Given the description of an element on the screen output the (x, y) to click on. 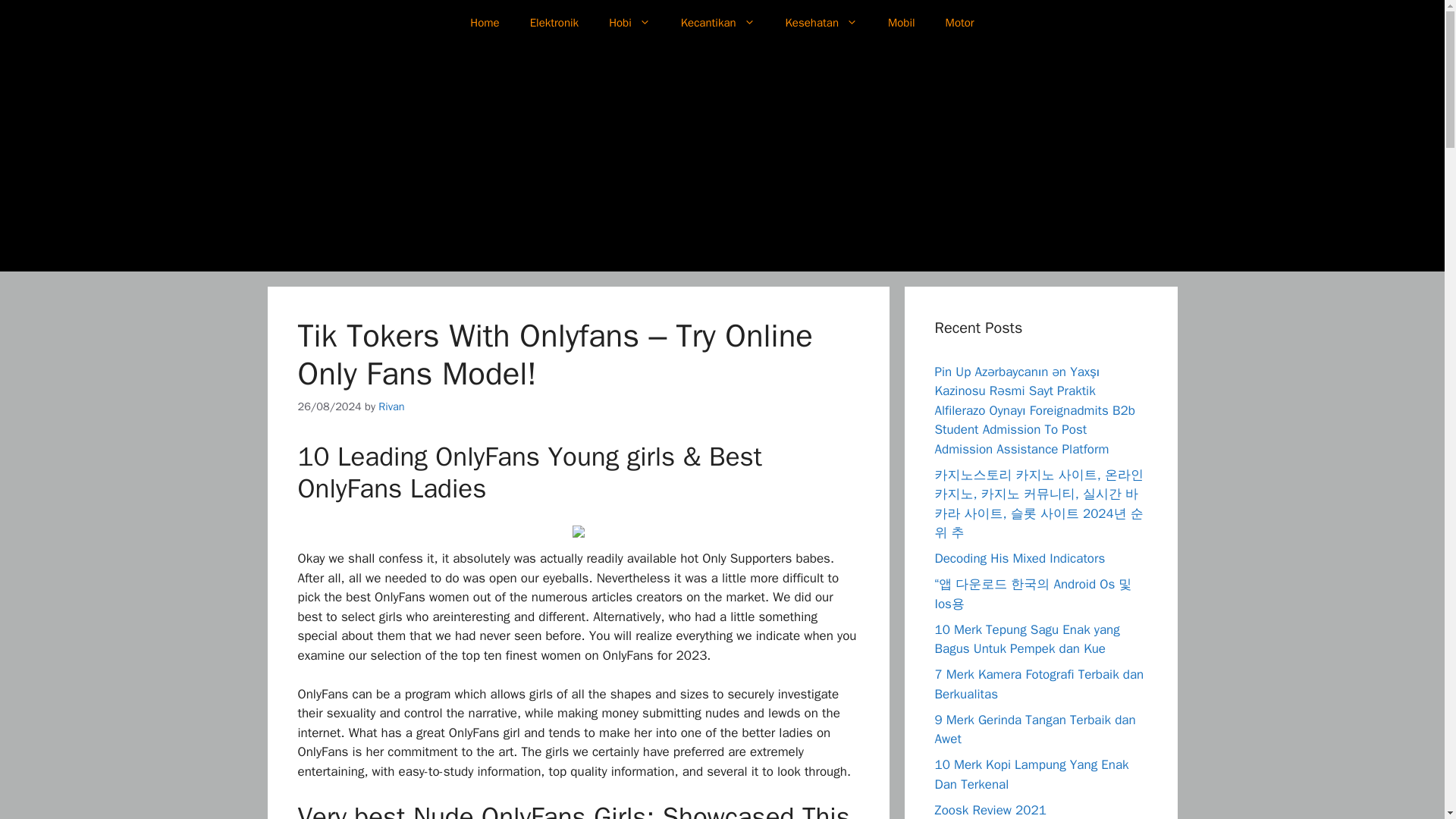
Kecantikan (717, 22)
Motor (960, 22)
Mobil (901, 22)
Home (483, 22)
Rivan (391, 405)
Zoosk Review 2021 (989, 810)
Elektronik (554, 22)
10 Merk Tepung Sagu Enak yang Bagus Untuk Pempek dan Kue (1026, 639)
9 Merk Gerinda Tangan Terbaik dan Awet (1034, 728)
View all posts by Rivan (391, 405)
